Given the description of an element on the screen output the (x, y) to click on. 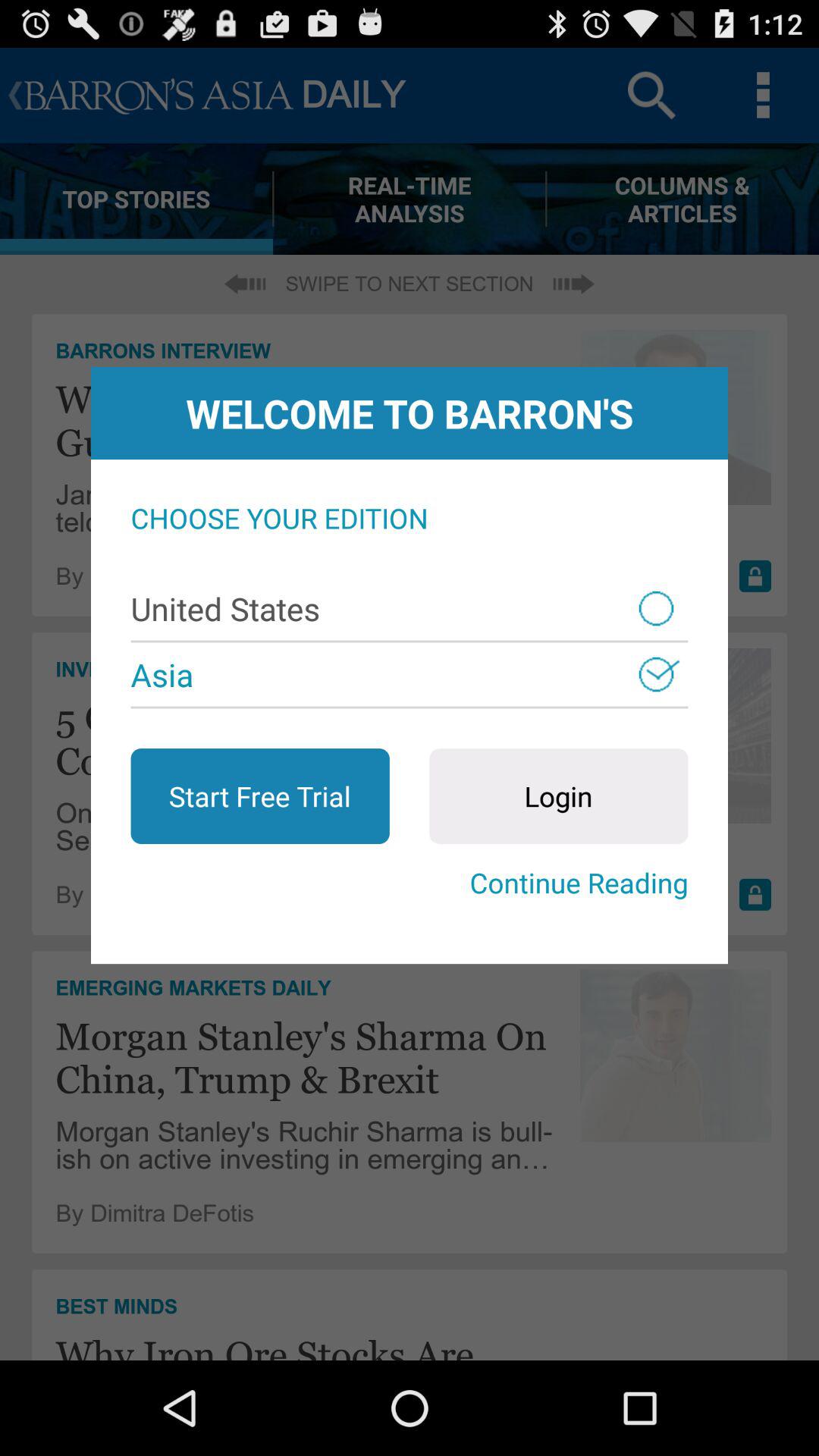
press app above continue reading item (259, 796)
